Given the description of an element on the screen output the (x, y) to click on. 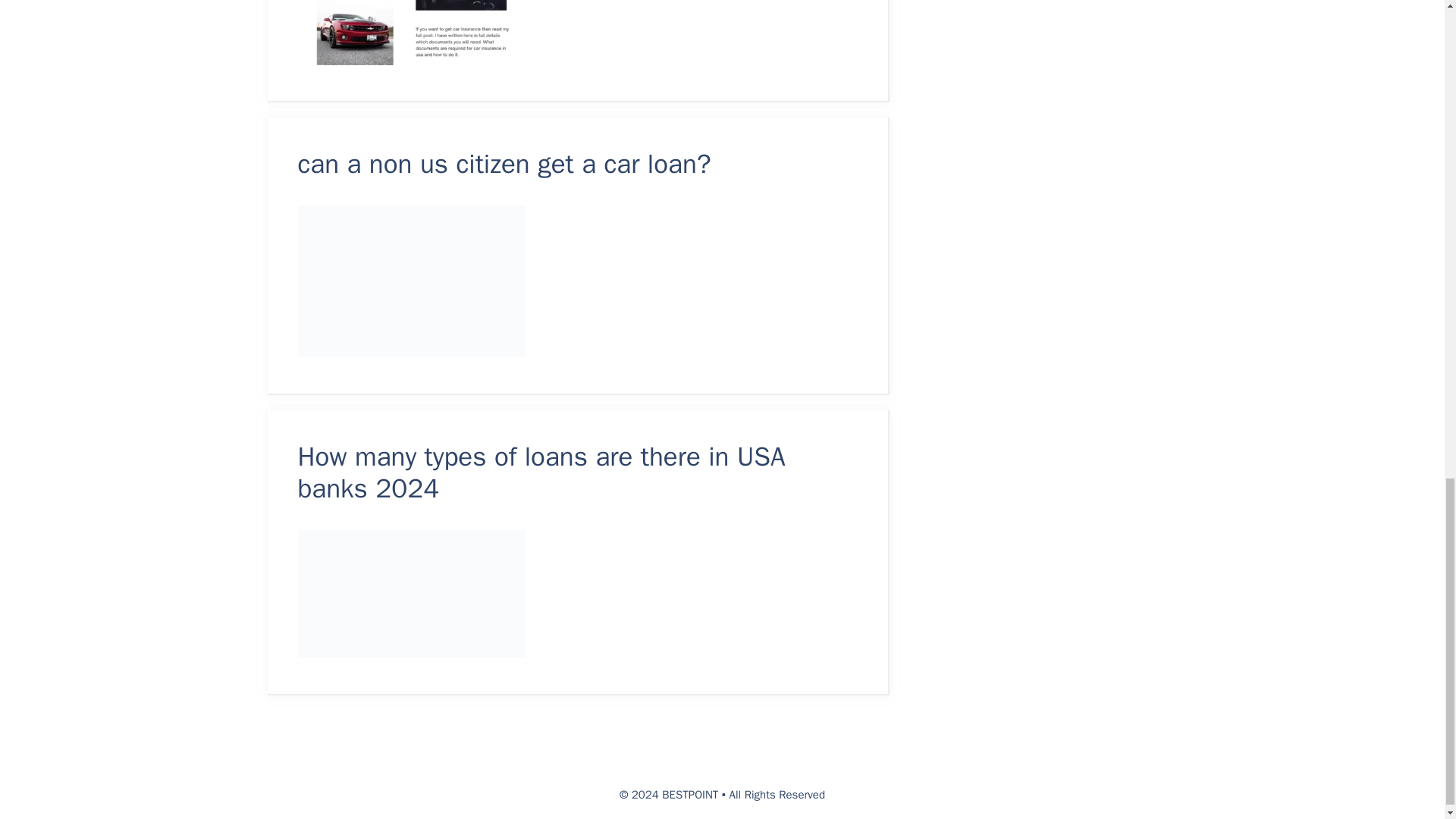
Scroll back to top (1406, 366)
How many types of loans are there in USA banks 2024 (540, 471)
can a non us citizen get a car loan? (503, 163)
How many types of loans are there in USA banks 2024 6 (410, 593)
can a non us citizen get a car loan? 5 (410, 281)
